Given the description of an element on the screen output the (x, y) to click on. 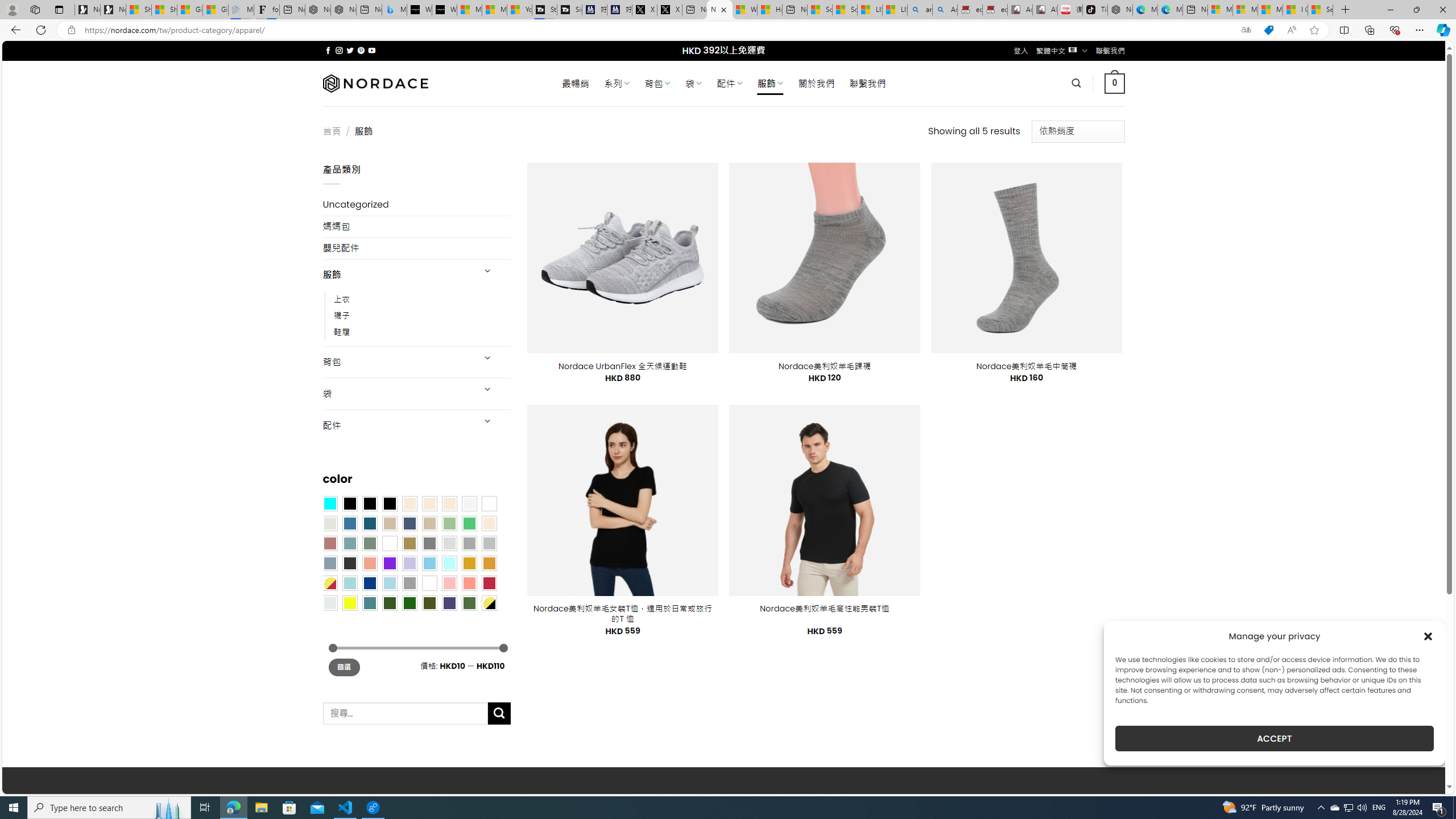
Follow on Instagram (338, 50)
  0   (1115, 83)
I Gained 20 Pounds of Muscle in 30 Days! | Watch (1295, 9)
